Given the description of an element on the screen output the (x, y) to click on. 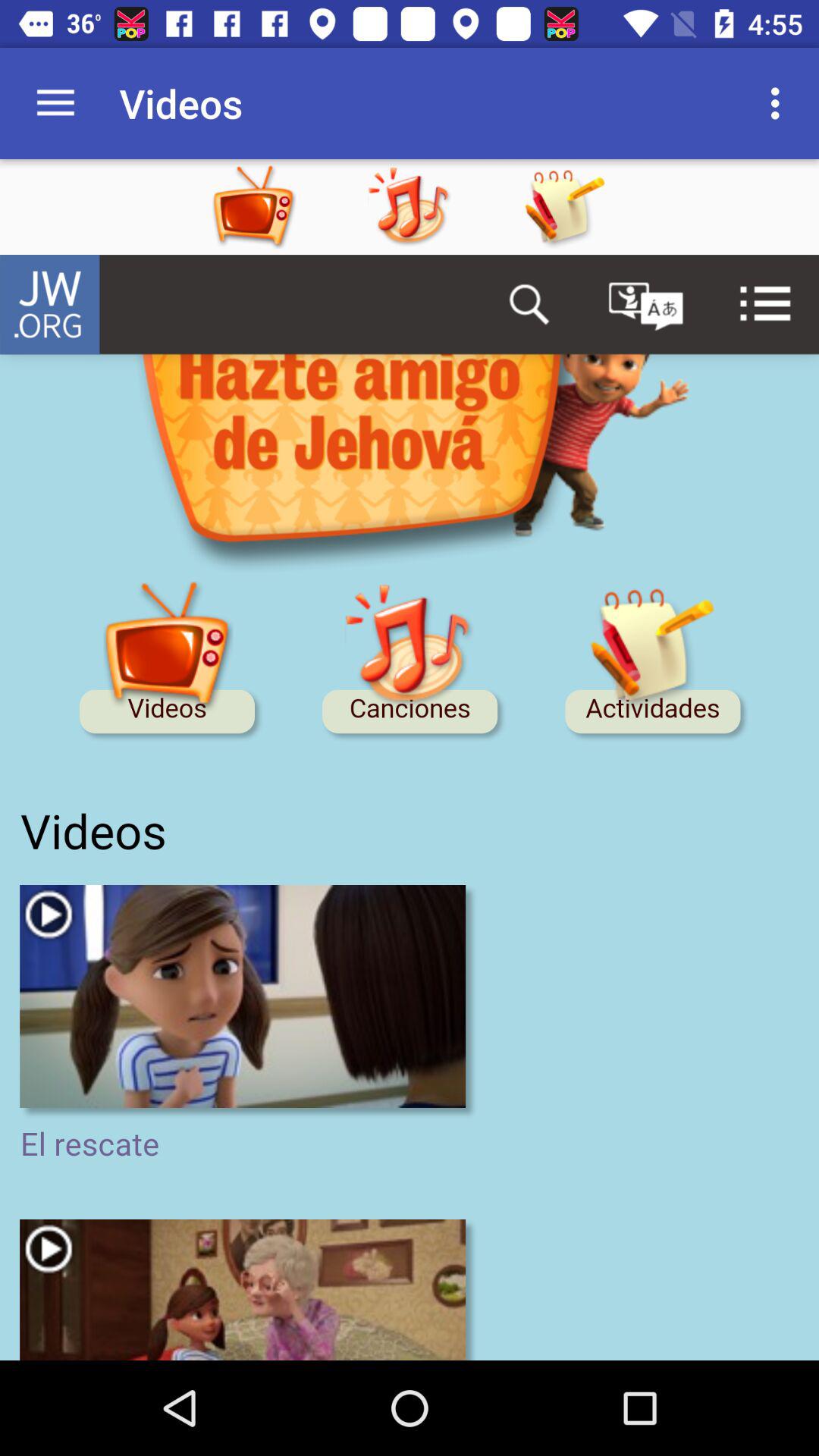
click to the app option (438, 206)
